Given the description of an element on the screen output the (x, y) to click on. 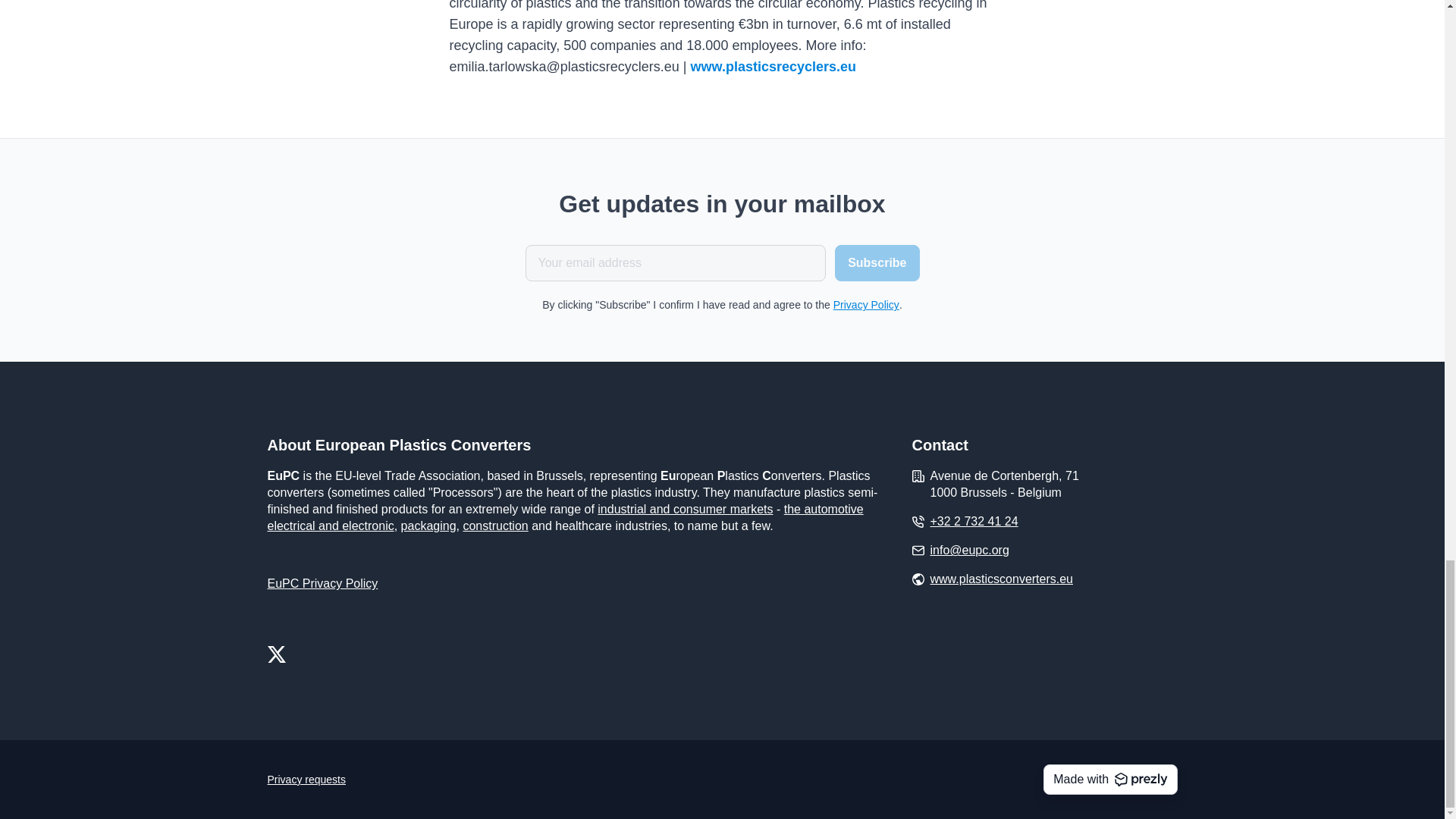
Privacy requests (305, 779)
the automotive electrical and electronic (564, 517)
EuPC Privacy Policy (321, 583)
industrial and consumer markets (684, 508)
construction (495, 525)
www.plasticsrecyclers.eu (773, 66)
Subscribe (876, 262)
www.plasticsconverters.eu (1001, 579)
packaging (429, 525)
Privacy Policy (865, 304)
